Given the description of an element on the screen output the (x, y) to click on. 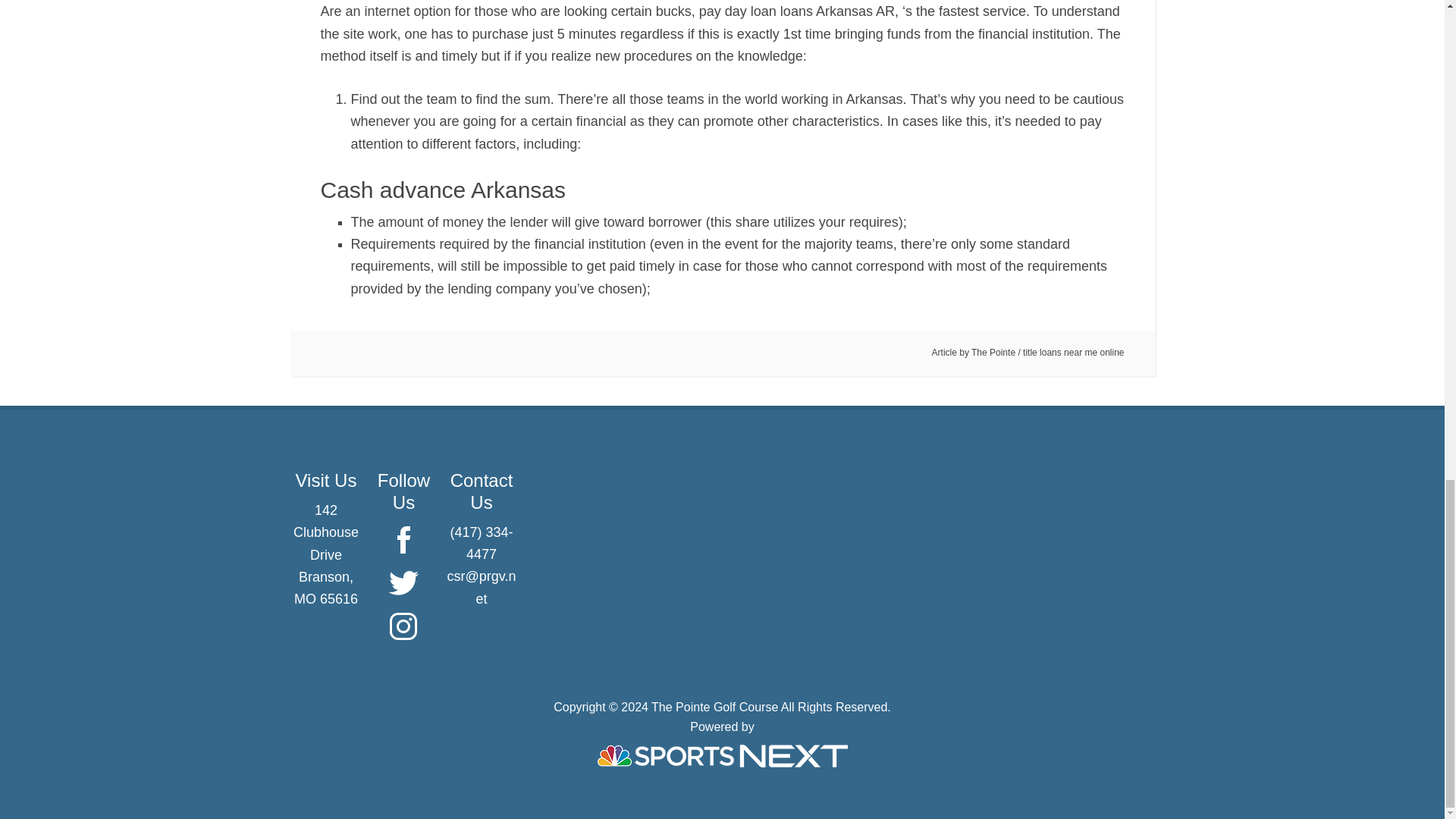
title loans near me online (1073, 352)
The Pointe (992, 352)
